Given the description of an element on the screen output the (x, y) to click on. 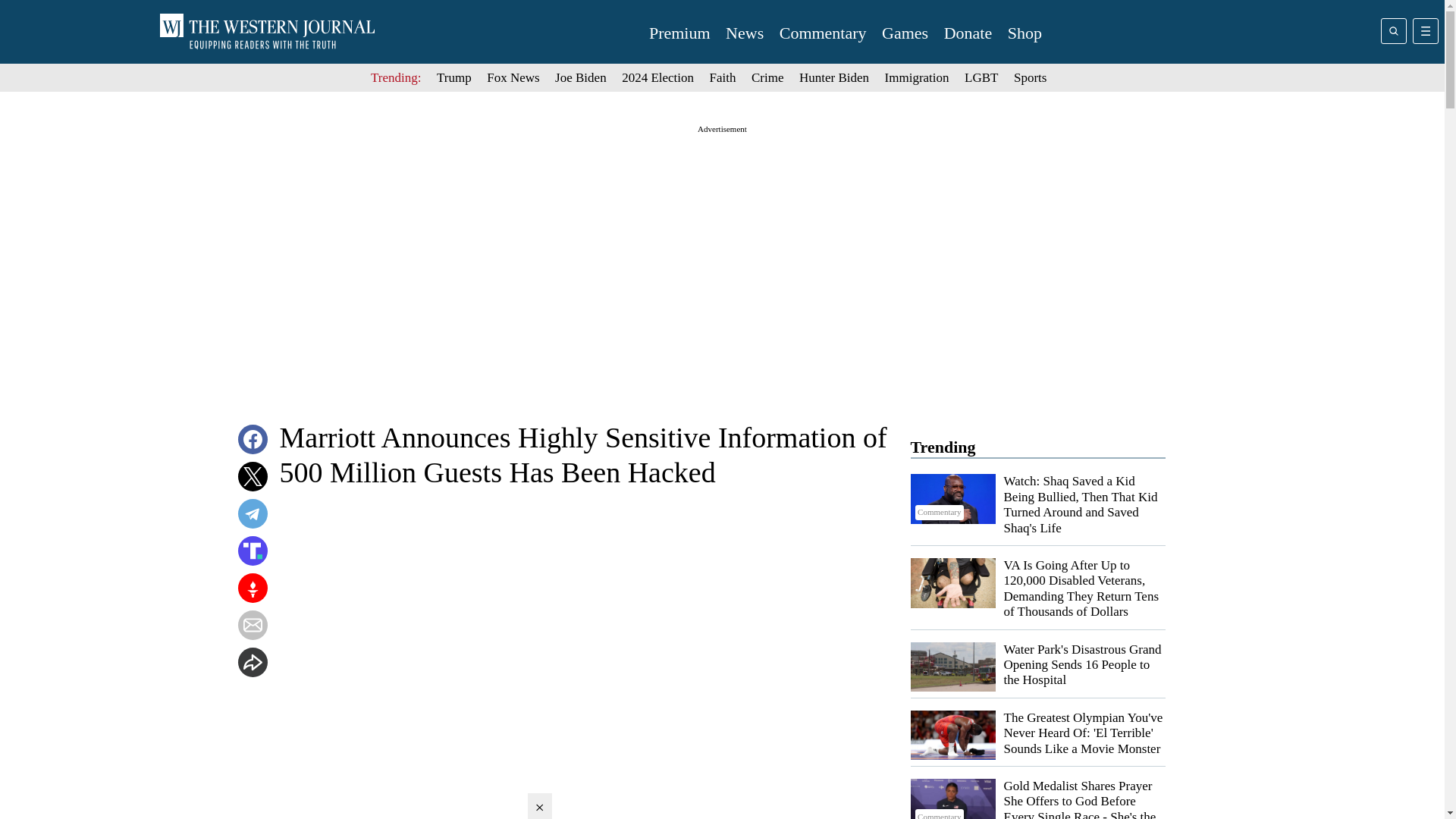
Faith (723, 77)
2024 Election (657, 77)
Shop (1024, 32)
Games (905, 32)
News (743, 32)
Trump (453, 77)
Donate (967, 32)
Hunter Biden (834, 77)
